Given the description of an element on the screen output the (x, y) to click on. 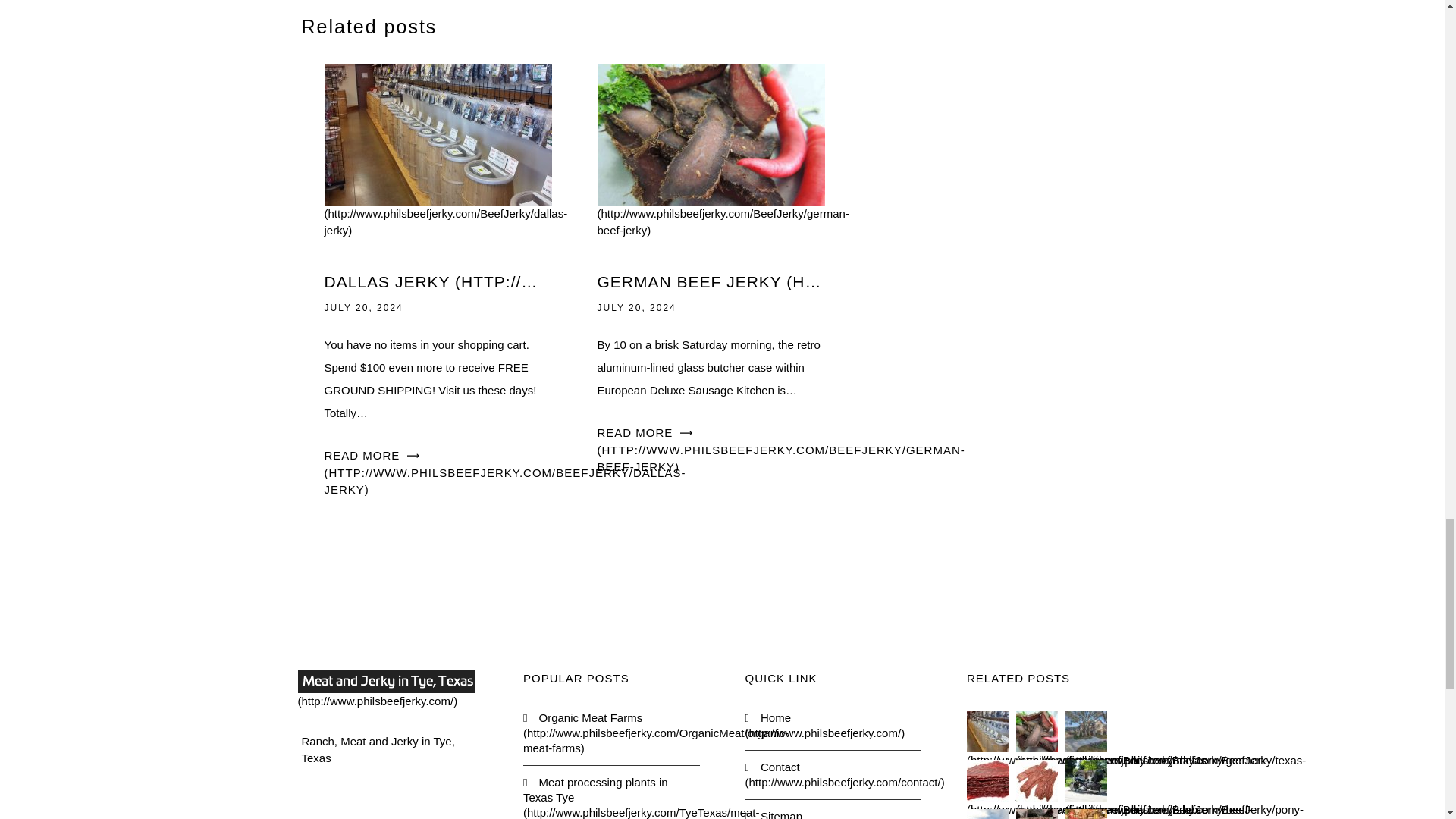
Dallas Jerky (445, 182)
READ MORE (780, 449)
German Beef Jerky (722, 182)
GERMAN BEEF JERKY (710, 282)
DALLAS JERKY (437, 282)
READ MORE (504, 472)
